Given the description of an element on the screen output the (x, y) to click on. 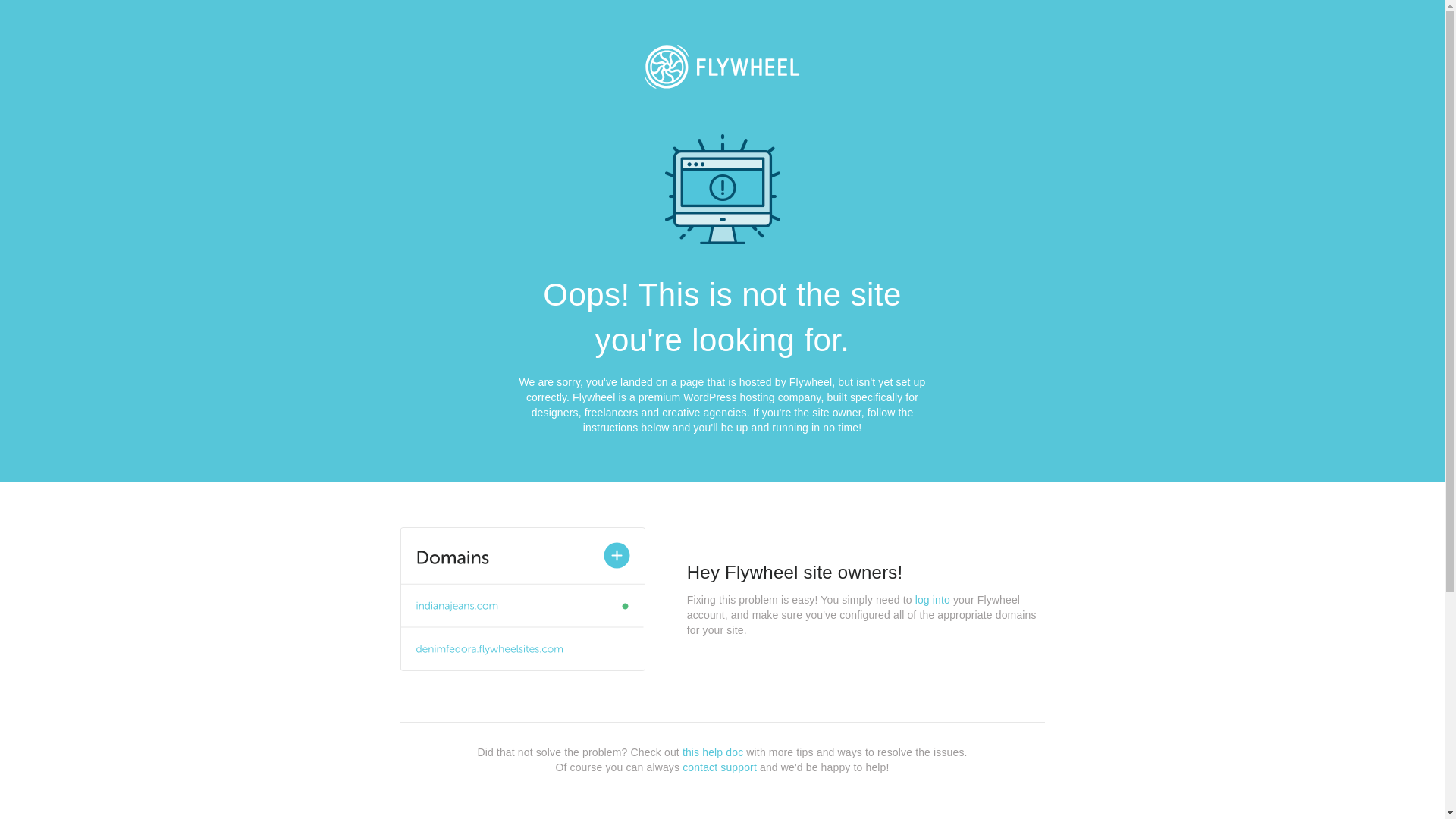
log into (932, 599)
contact support (719, 767)
this help doc (712, 752)
